Given the description of an element on the screen output the (x, y) to click on. 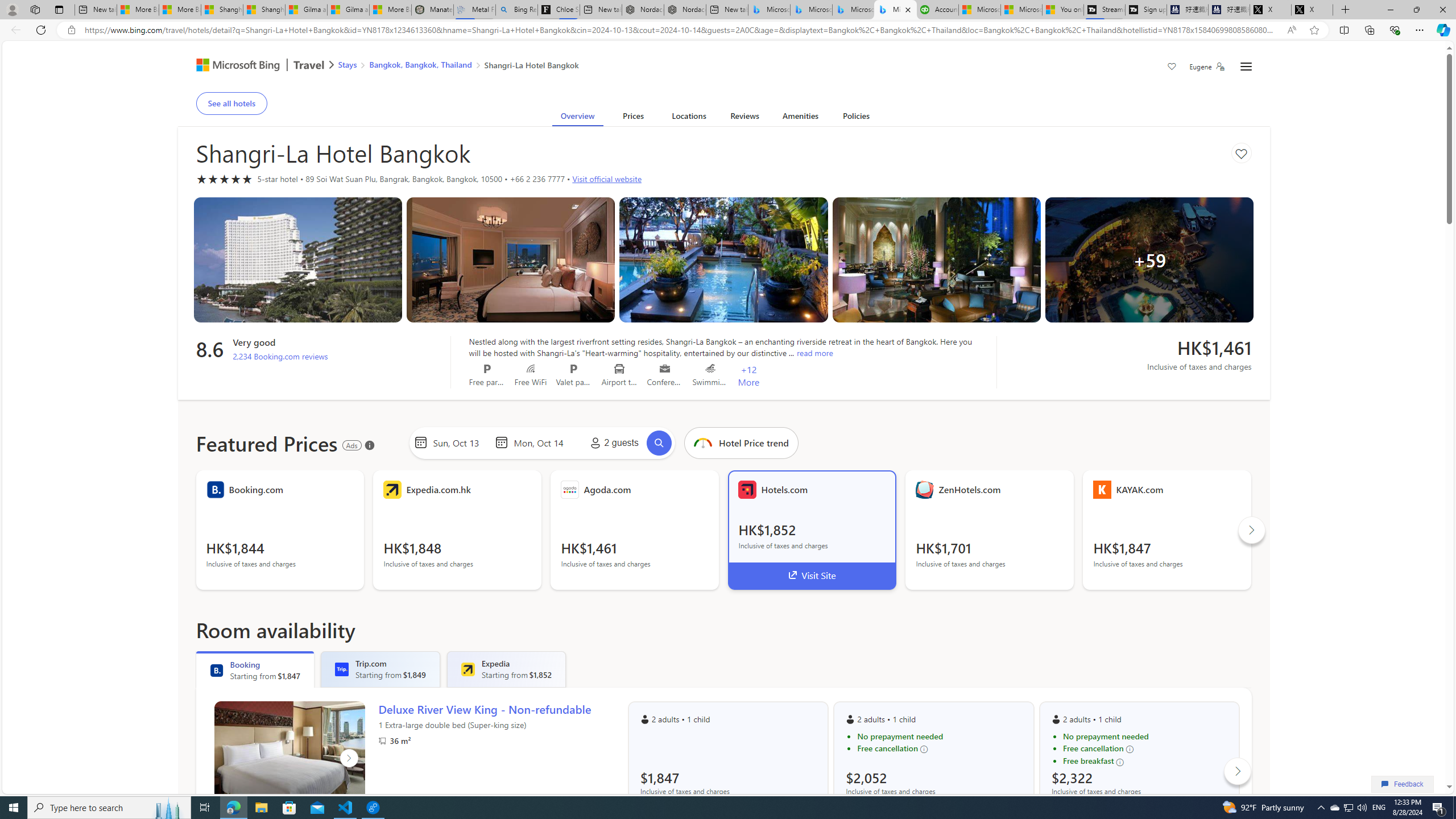
Save (1171, 67)
Accounting Software for Accountants, CPAs and Bookkeepers (937, 9)
Airport transportation (619, 368)
Start Date (460, 442)
TripDotCom (341, 669)
Microsoft Bing (232, 65)
